Given the description of an element on the screen output the (x, y) to click on. 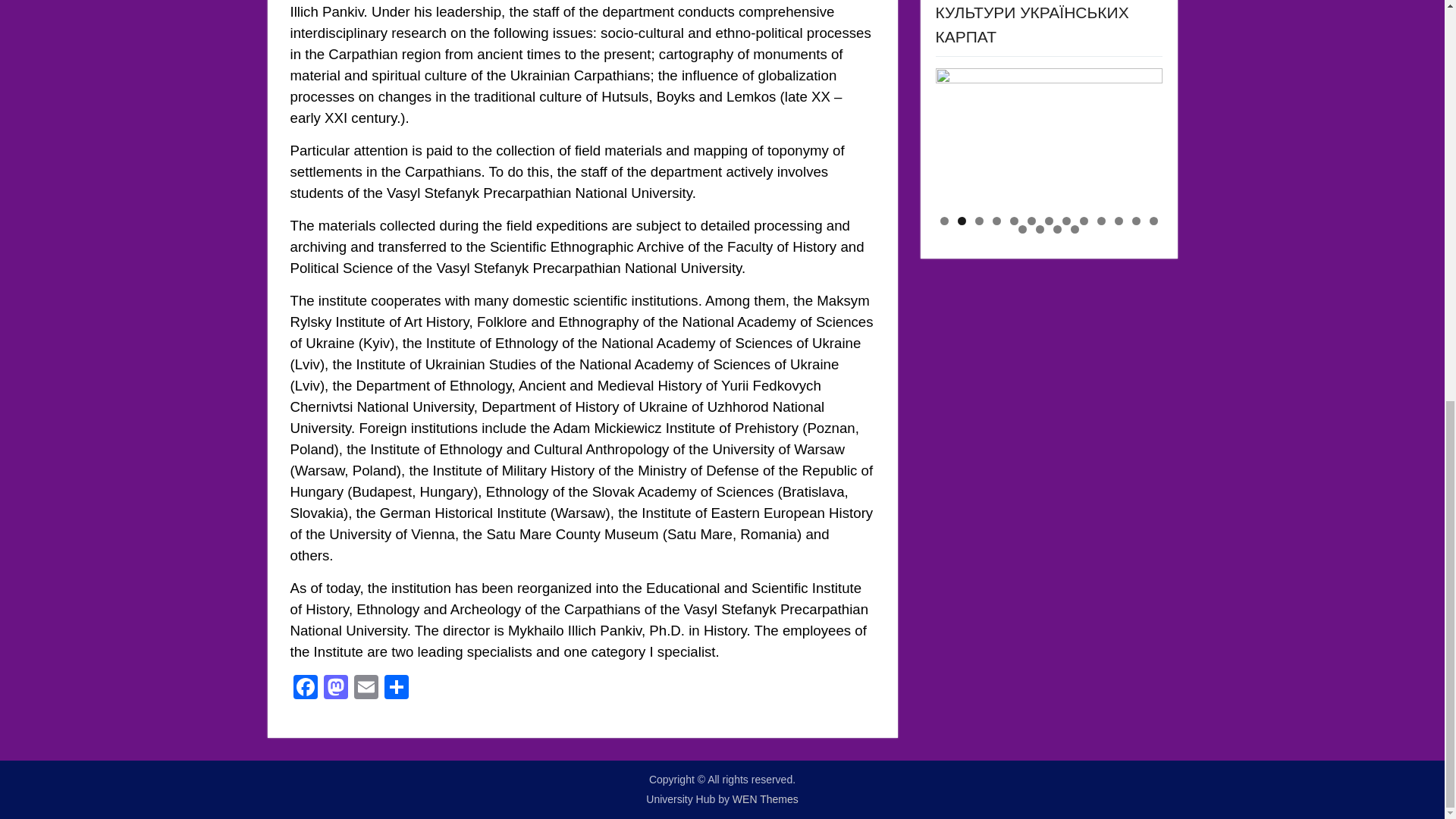
Mastodon (335, 688)
Email (365, 688)
Facebook (304, 688)
1.24 (820, 139)
1.22 (1048, 139)
